Given the description of an element on the screen output the (x, y) to click on. 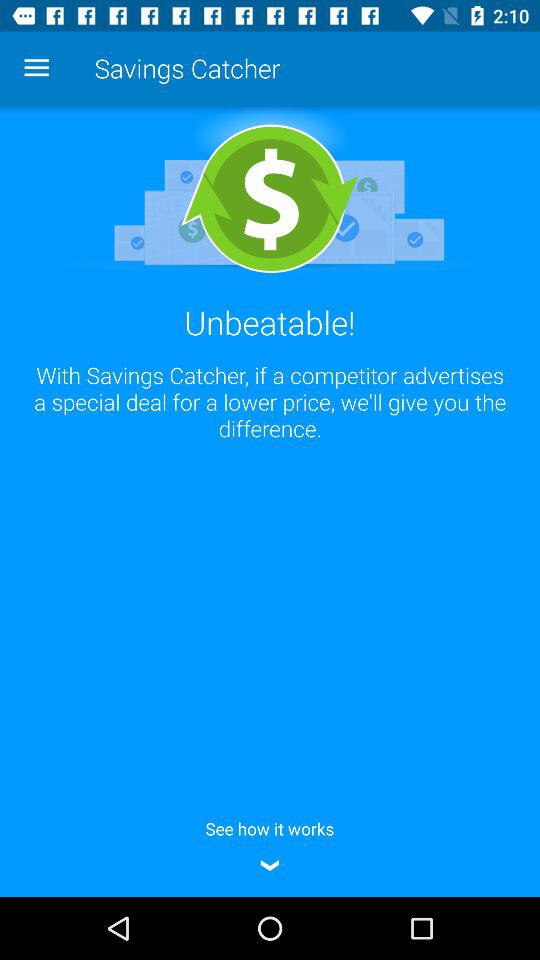
turn off icon below with savings catcher (269, 843)
